Given the description of an element on the screen output the (x, y) to click on. 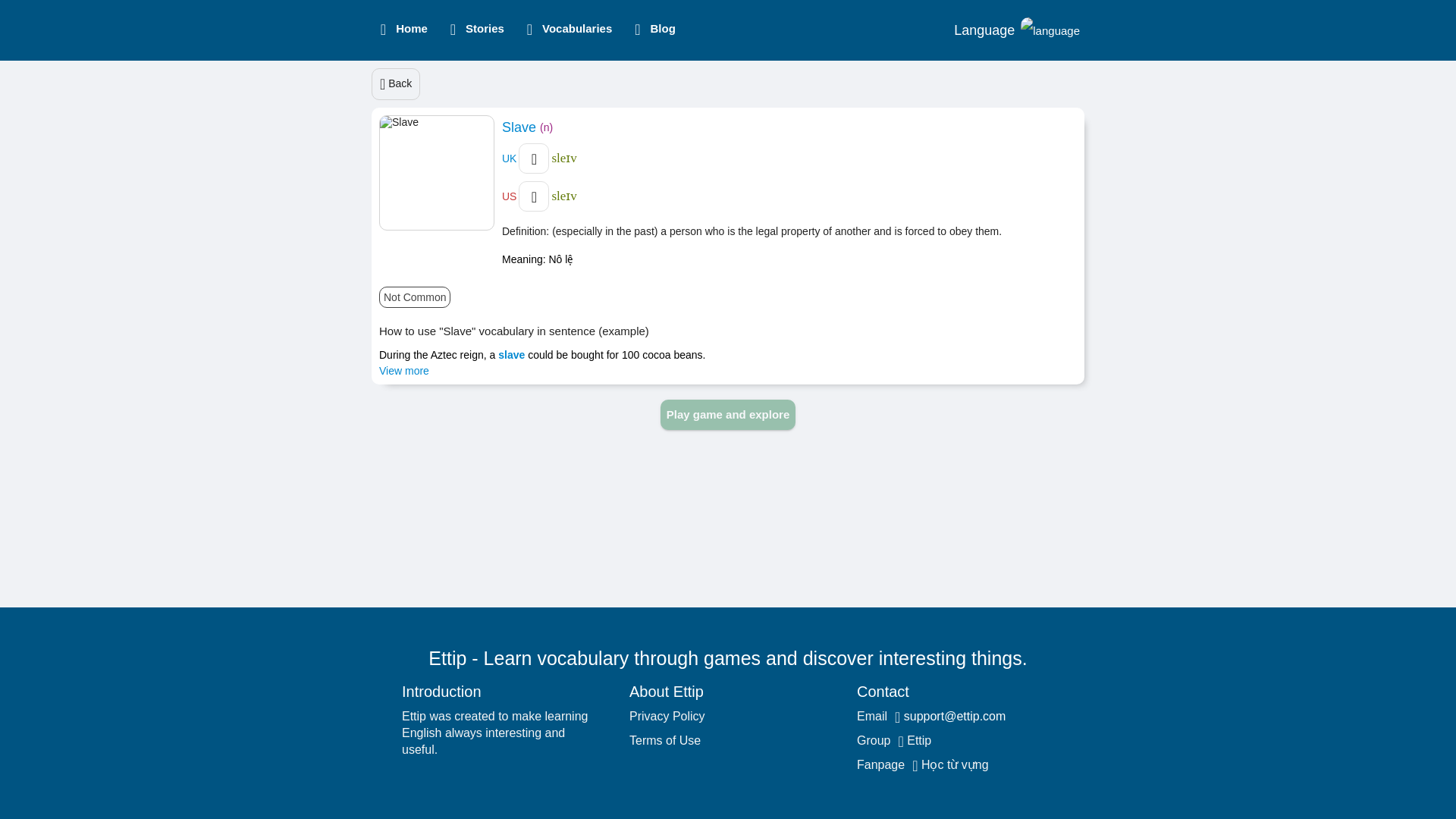
Back (395, 83)
Privacy Policy (666, 716)
Vocabularies (564, 30)
Home (398, 30)
Stories (472, 30)
View more (403, 370)
View more (403, 370)
Blog (649, 30)
Ettip (917, 739)
Play game and explore (728, 414)
